Given the description of an element on the screen output the (x, y) to click on. 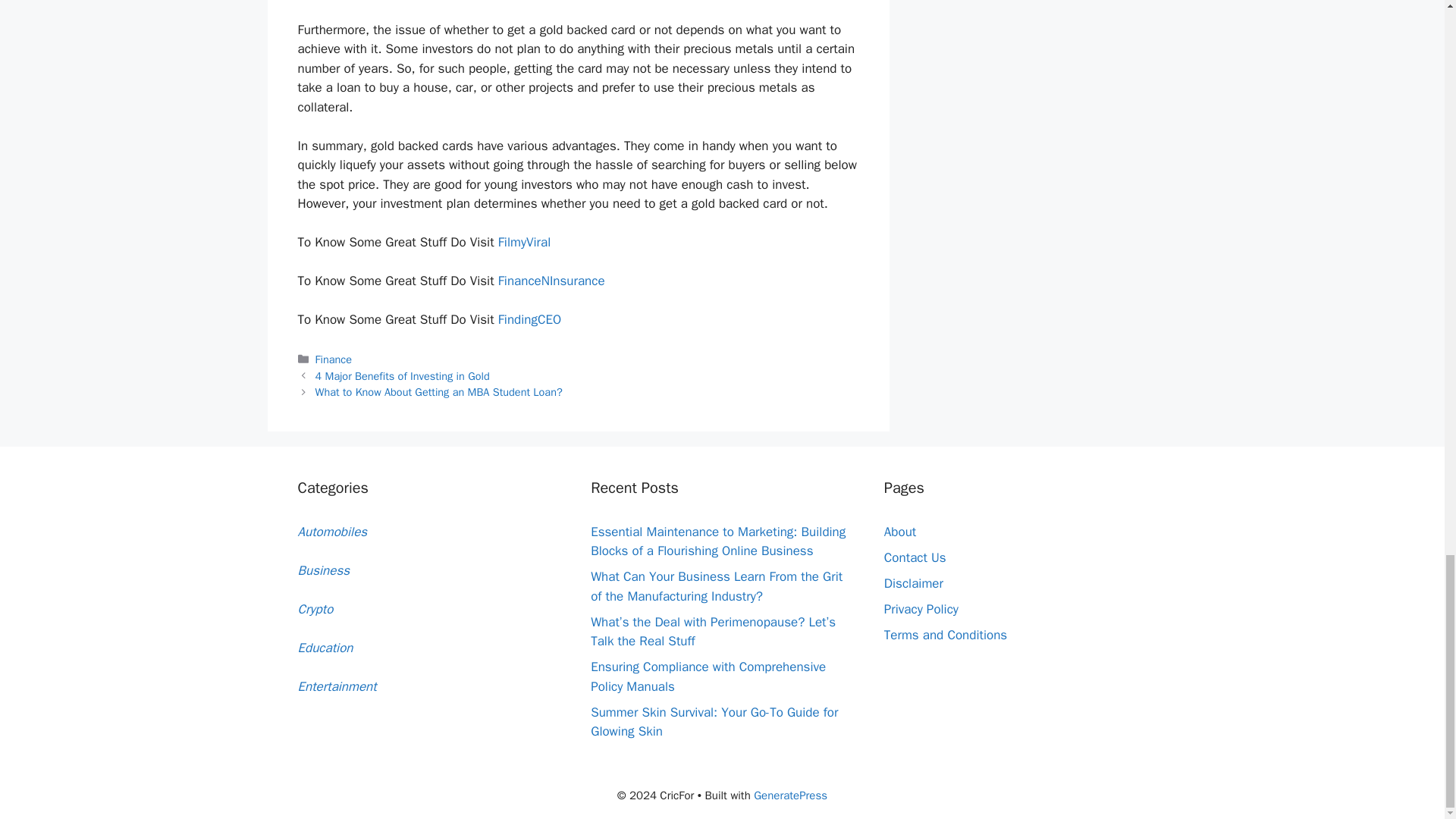
FilmyViral (524, 242)
FinanceNInsurance (551, 280)
FindingCEO (529, 319)
Finance (333, 359)
4 Major Benefits of Investing in Gold (402, 376)
What to Know About Getting an MBA Student Loan? (438, 391)
